Given the description of an element on the screen output the (x, y) to click on. 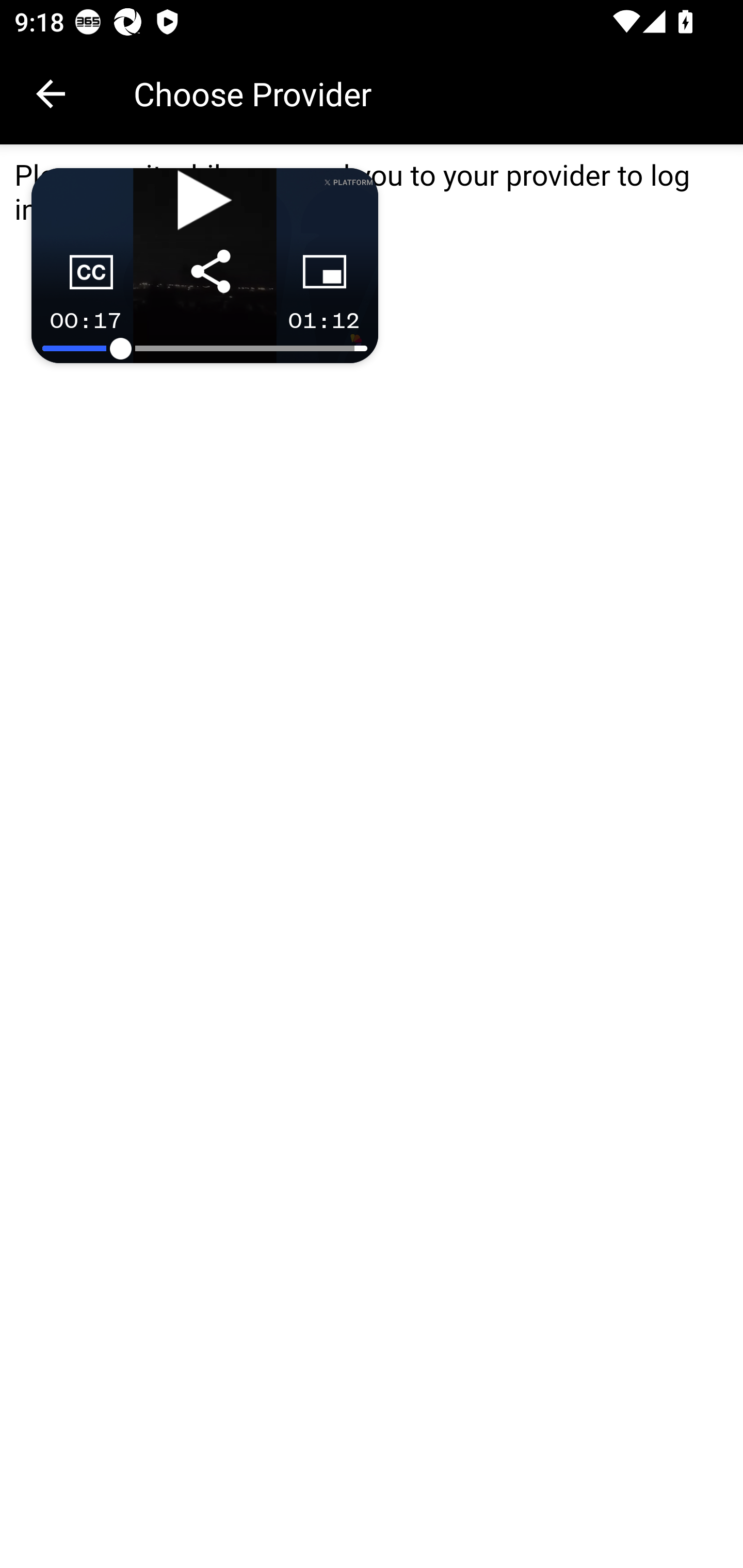
Navigate up (50, 93)
